Given the description of an element on the screen output the (x, y) to click on. 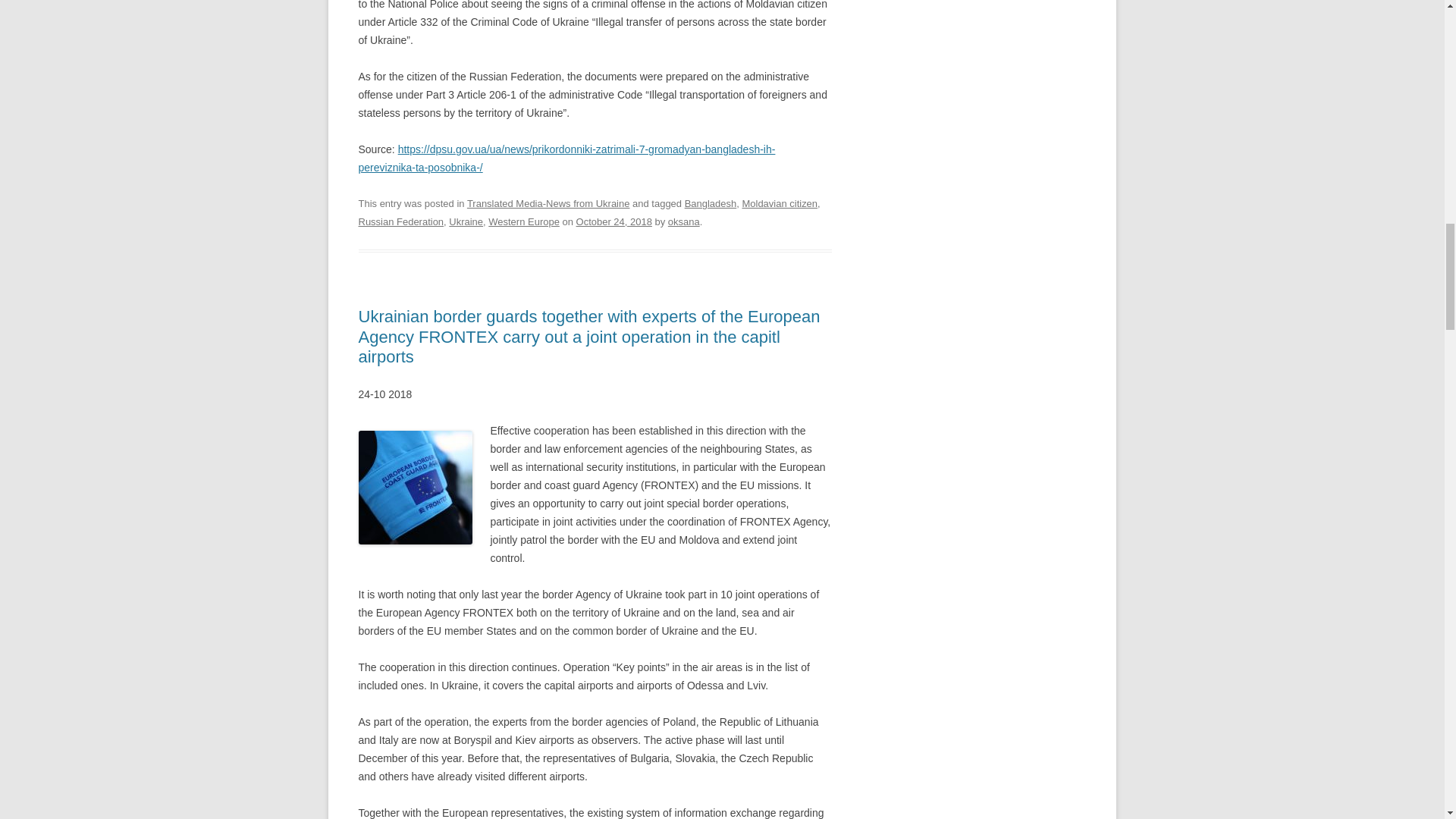
Ukraine (465, 221)
Translated Media-News from Ukraine (548, 203)
View all posts by oksana (684, 221)
oksana (684, 221)
12:47 (614, 221)
Moldavian citizen (778, 203)
Bangladesh (710, 203)
October 24, 2018 (614, 221)
Russian Federation (401, 221)
